Given the description of an element on the screen output the (x, y) to click on. 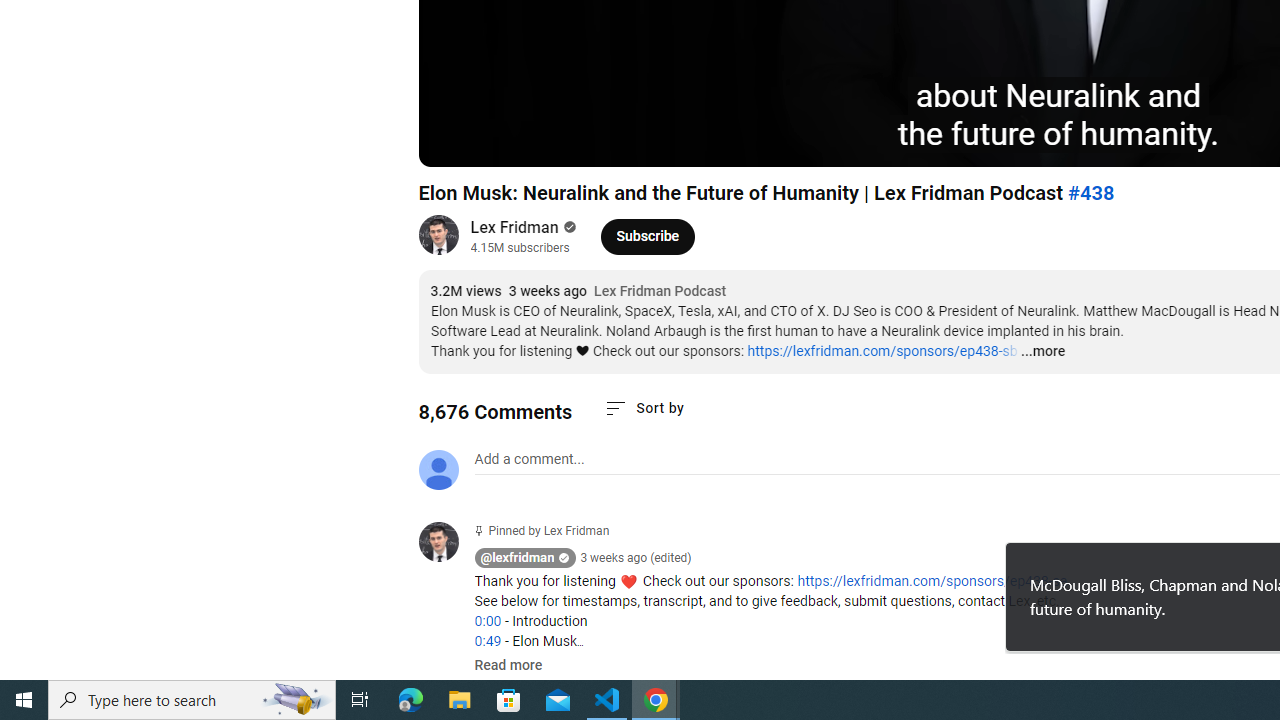
Play (k) (453, 142)
Sort comments (644, 408)
...more (1042, 352)
https://lexfridman.com/sponsors/ep438-sa (932, 581)
Next (SHIFT+n) (500, 142)
Read more (507, 665)
https://lexfridman.com/sponsors/ep438-sb (882, 351)
@lexfridman (446, 543)
Mute (m) (548, 142)
#438 (1090, 193)
Lex Fridman (514, 227)
Subscribe to Lex Fridman. (648, 236)
Default profile photo (438, 470)
